Given the description of an element on the screen output the (x, y) to click on. 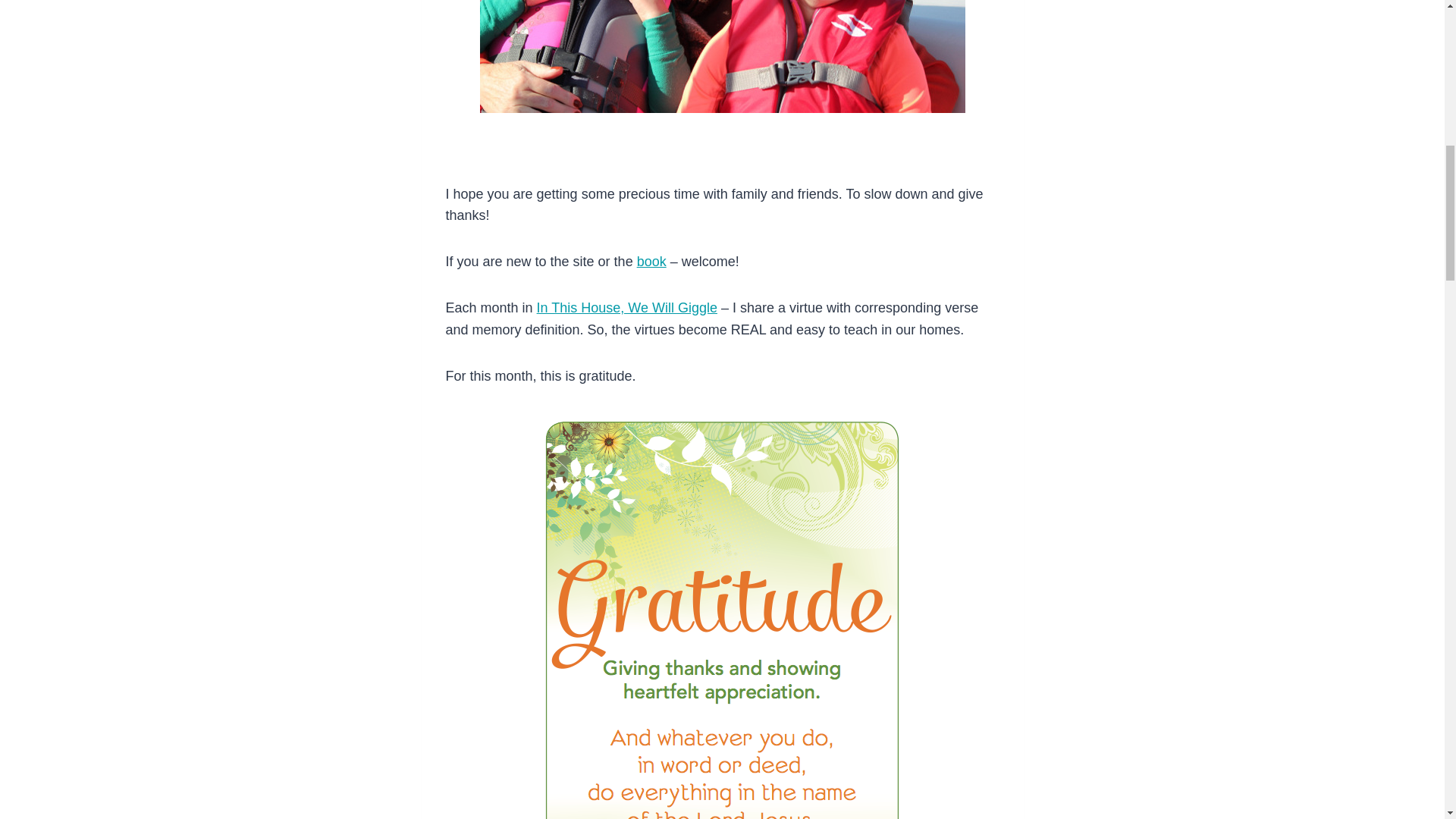
book (651, 261)
The Book (651, 261)
In This House, We Will Giggle (627, 307)
The Book (627, 307)
